Given the description of an element on the screen output the (x, y) to click on. 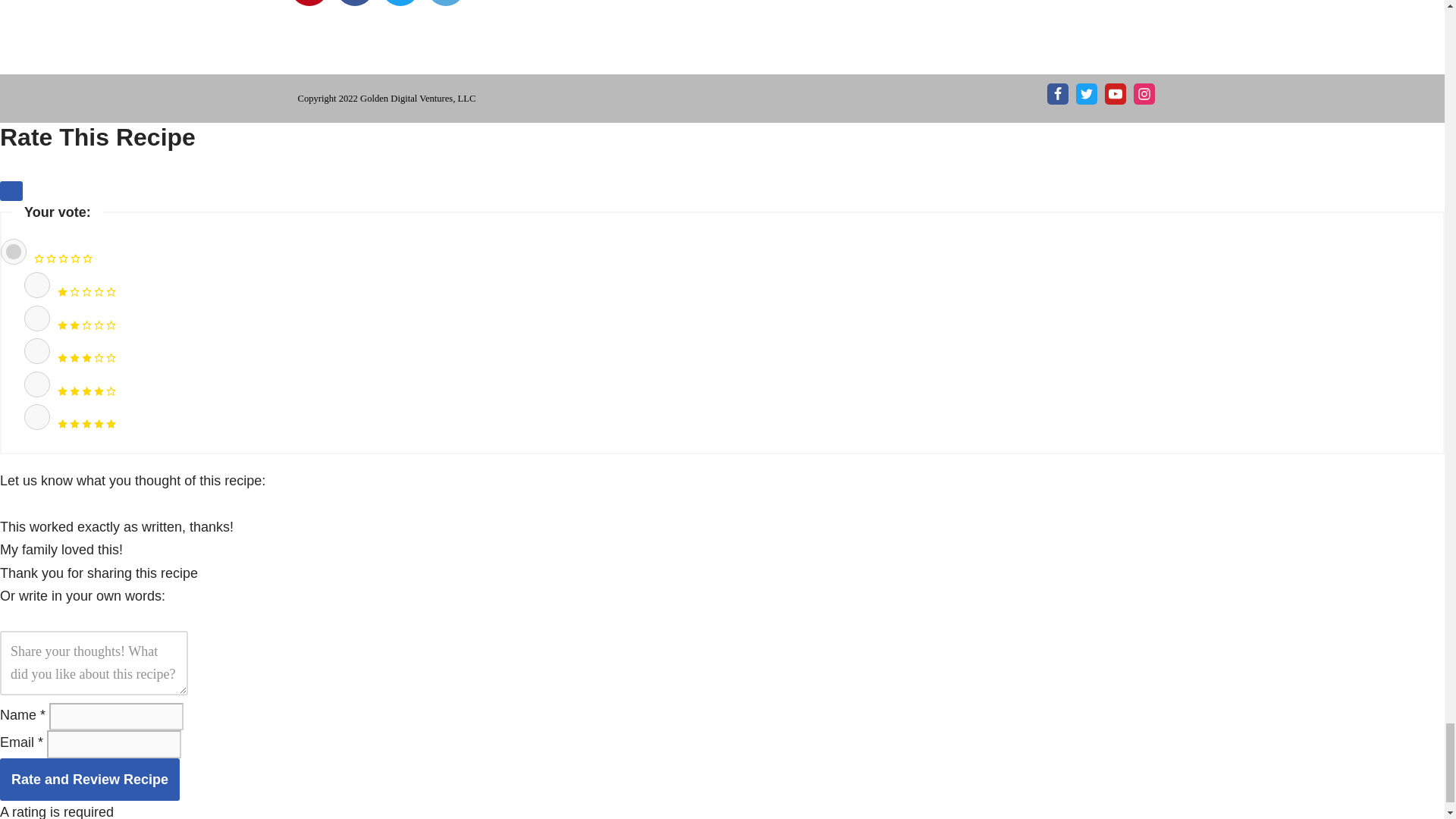
4 (36, 384)
2 (36, 318)
3 (36, 350)
1 (36, 284)
Facebook (353, 2)
0 (13, 251)
Pinterest (308, 2)
5 (36, 416)
